Given the description of an element on the screen output the (x, y) to click on. 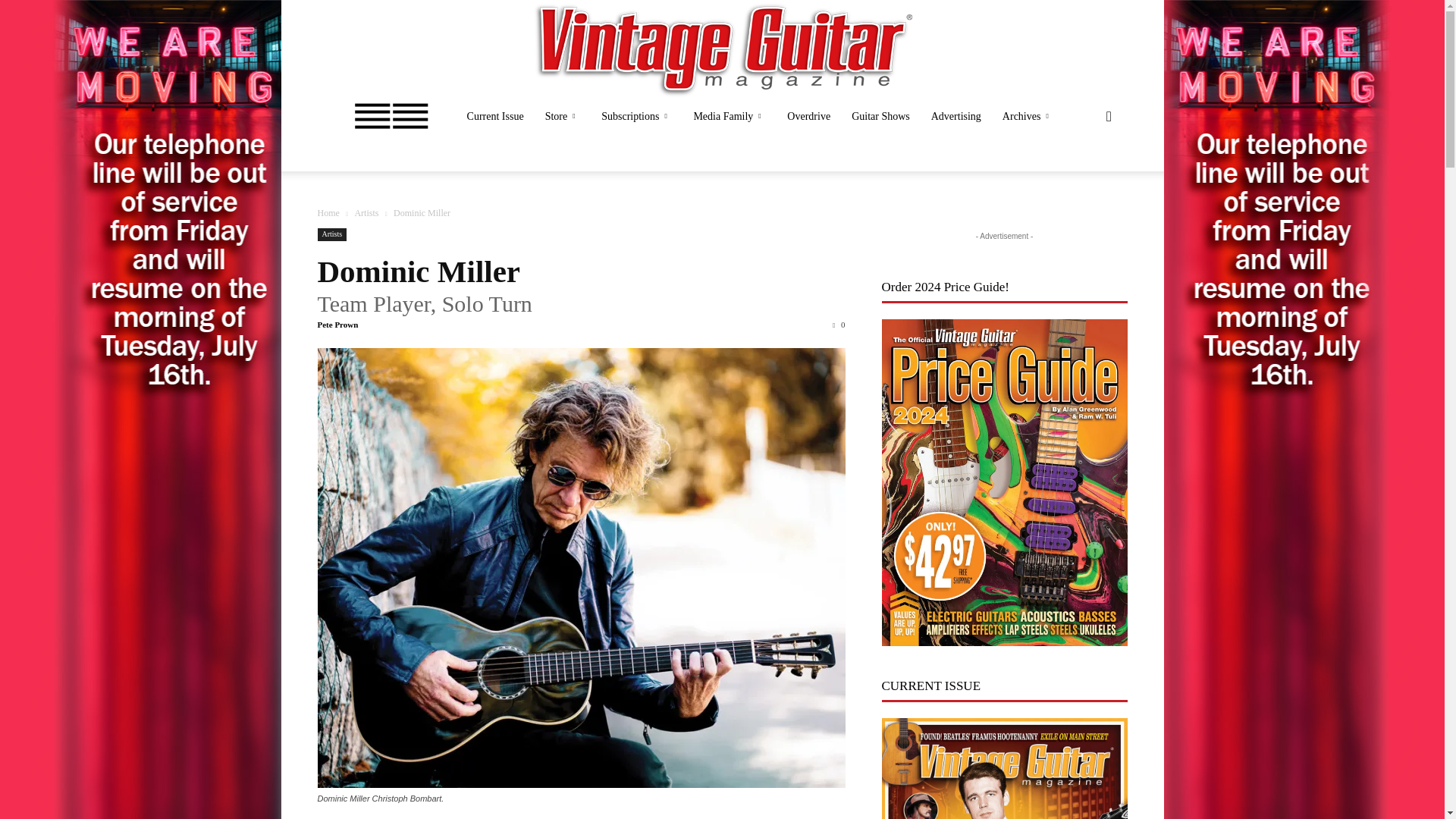
Table of Contents (495, 116)
Dominic Miller (418, 271)
Browse Vintage Guitar Store (562, 116)
View all posts in Artists (365, 213)
